Given the description of an element on the screen output the (x, y) to click on. 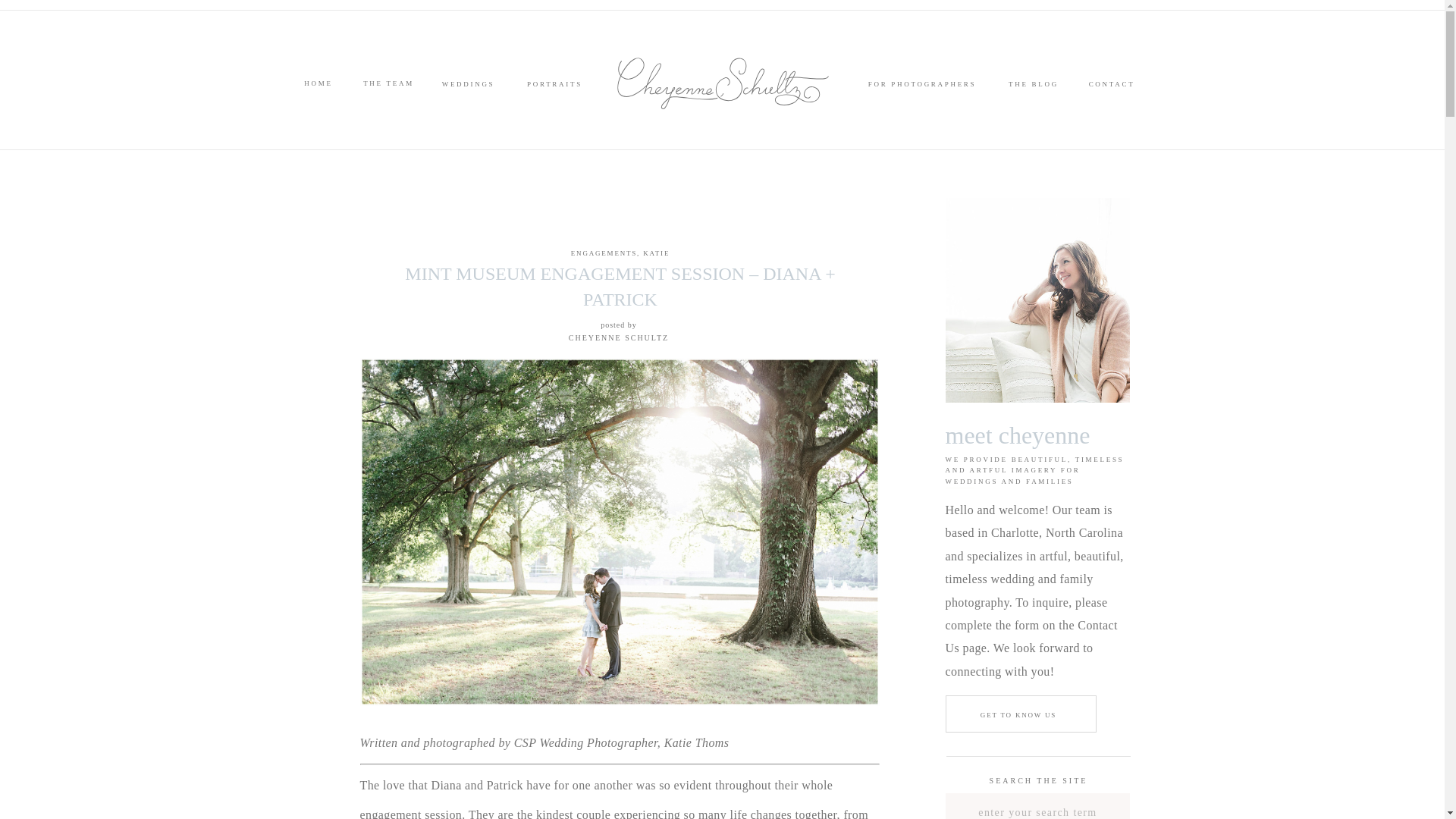
CONTACT (1110, 87)
HOME (318, 88)
WEDDINGS (468, 87)
PORTRAITS (554, 87)
THE TEAM (388, 88)
THE BLOG (1032, 88)
ENGAGEMENTS (603, 253)
KATIE (656, 253)
FOR PHOTOGRAPHERS (921, 88)
